Given the description of an element on the screen output the (x, y) to click on. 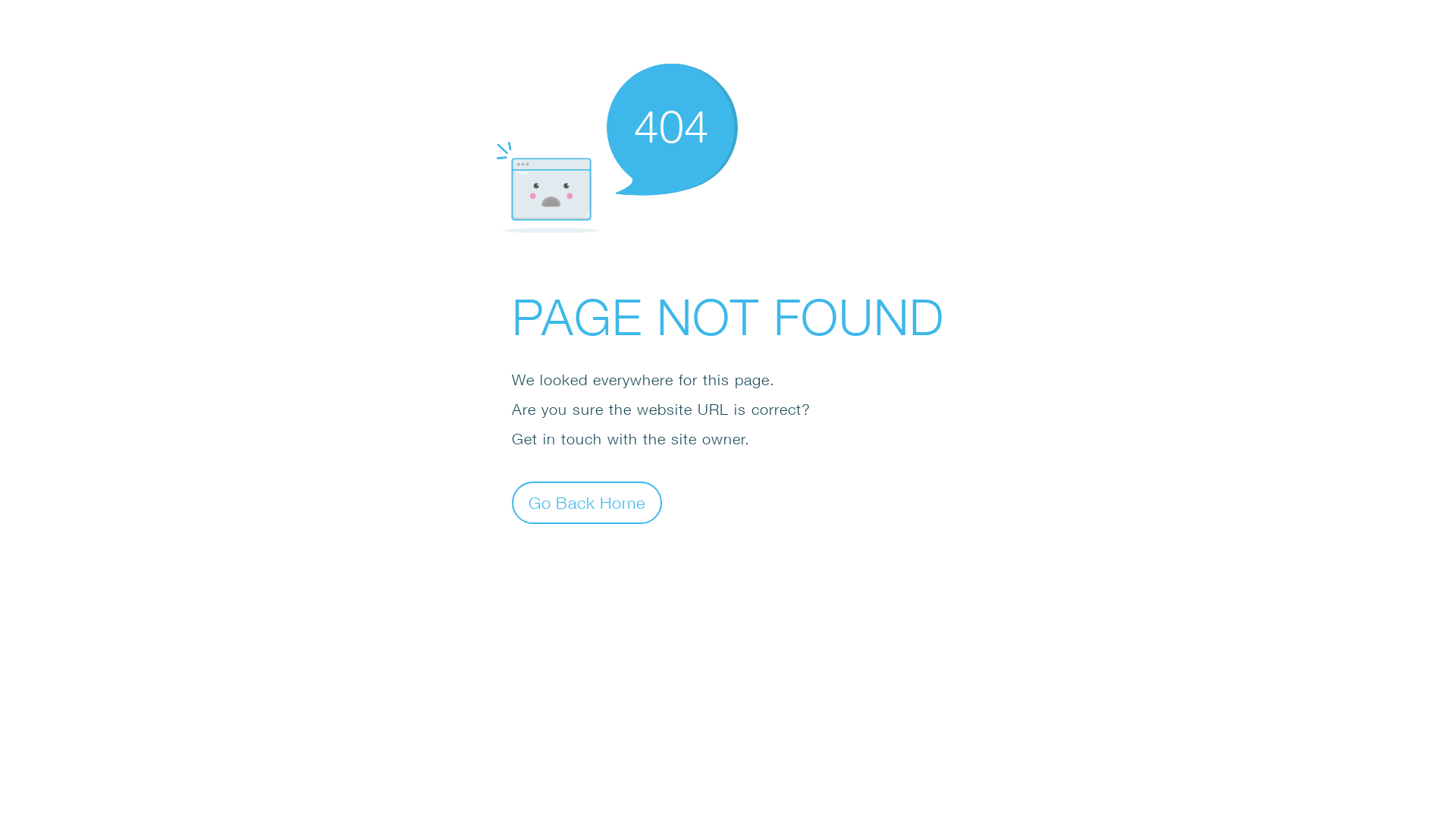
Go Back Home Element type: text (586, 502)
